Given the description of an element on the screen output the (x, y) to click on. 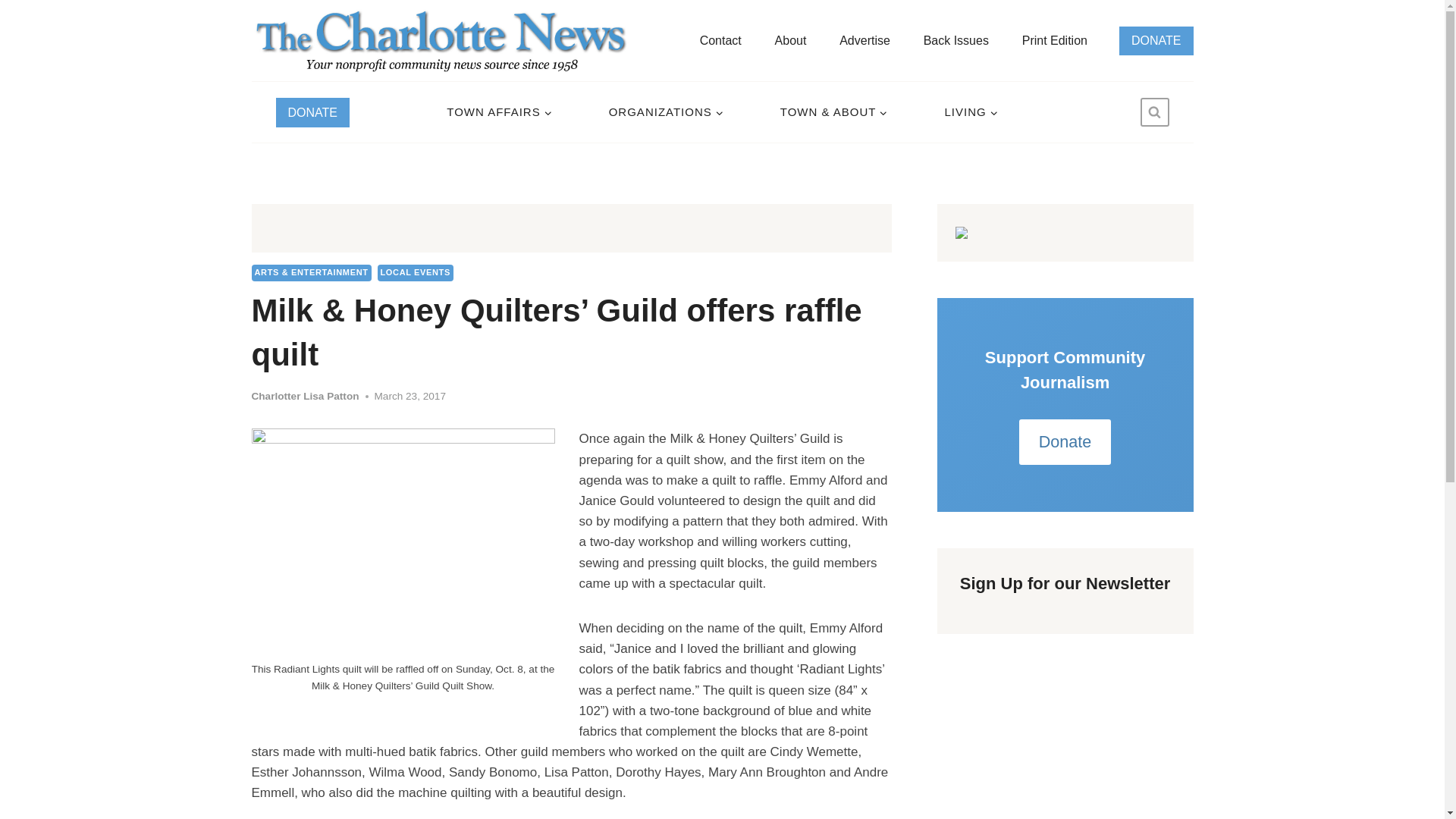
Advertise (864, 40)
About (790, 40)
Print Edition (1054, 40)
DONATE (1155, 39)
LIVING (970, 112)
Back Issues (955, 40)
TOWN AFFAIRS (499, 112)
DONATE (312, 111)
Contact (720, 40)
ORGANIZATIONS (665, 112)
